Given the description of an element on the screen output the (x, y) to click on. 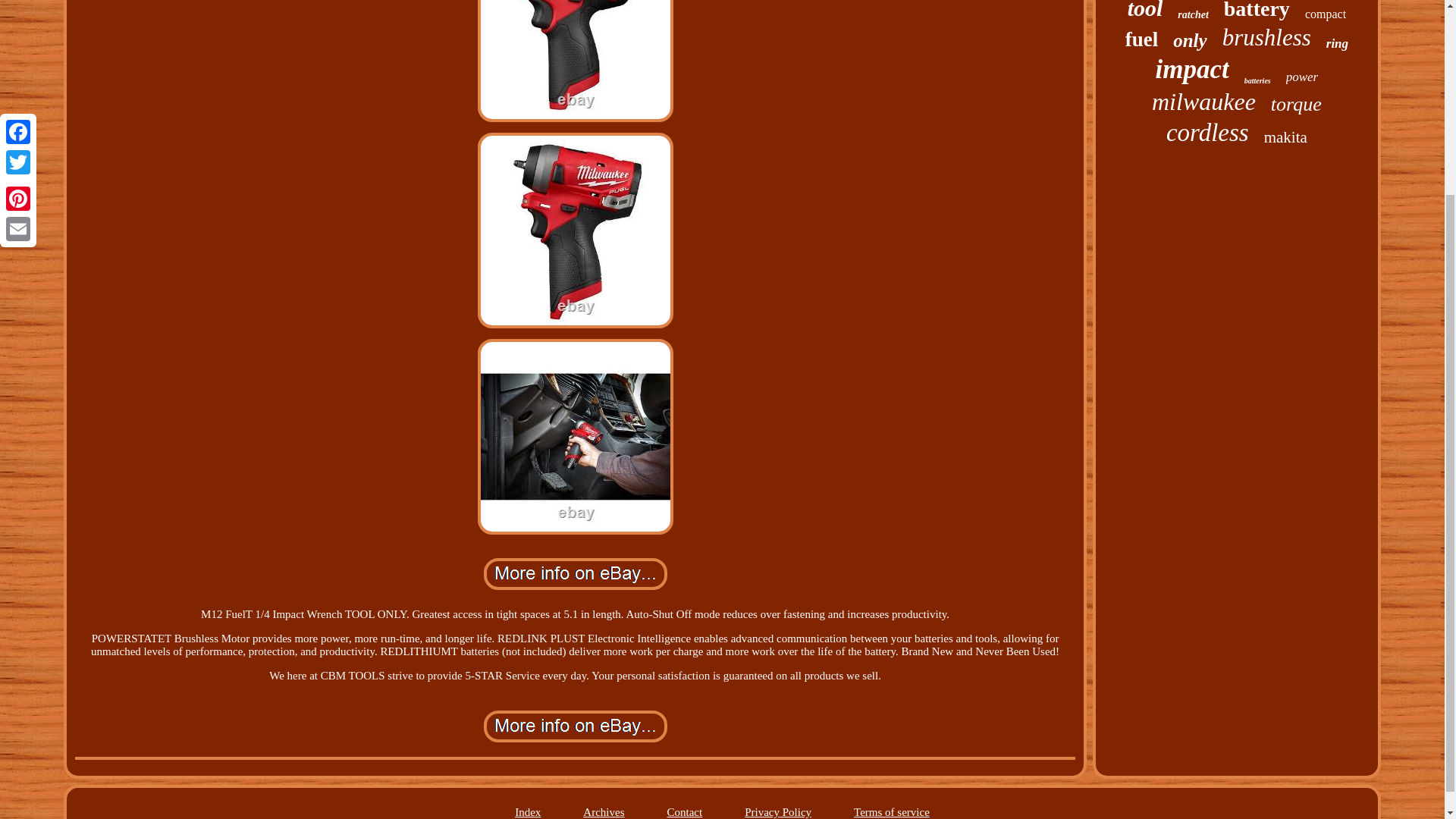
only (1190, 40)
ring (1337, 43)
battery (1257, 10)
ratchet (1192, 15)
fuel (1141, 39)
tool (1144, 10)
compact (1324, 14)
brushless (1267, 37)
